Given the description of an element on the screen output the (x, y) to click on. 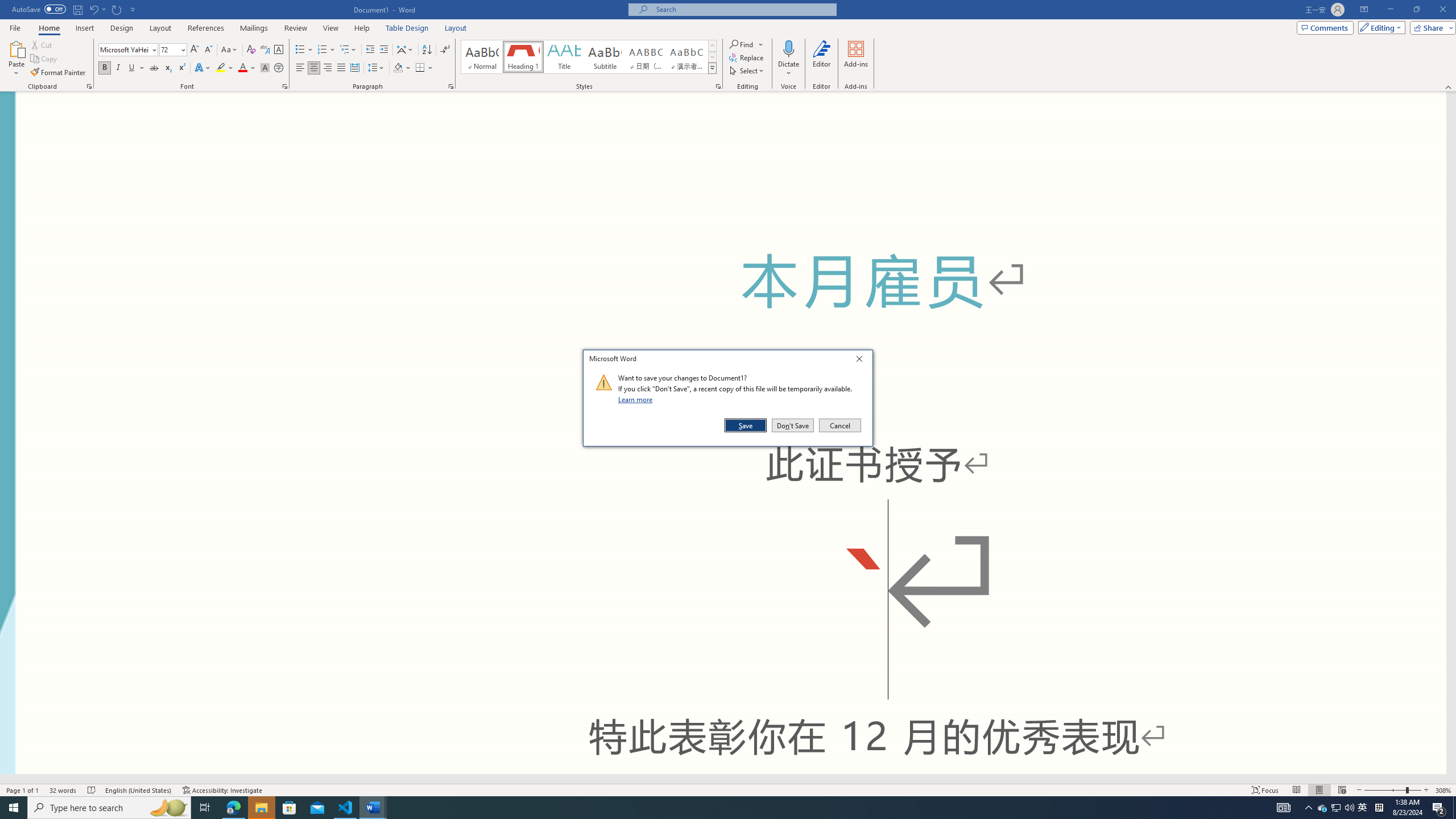
Format Painter (58, 72)
Start (13, 807)
Character Shading (264, 67)
Sort... (426, 49)
Spelling and Grammar Check No Errors (91, 790)
Font Color Red (241, 67)
Row Down (711, 56)
Text Highlight Color (224, 67)
Don't Save (792, 425)
